Given the description of an element on the screen output the (x, y) to click on. 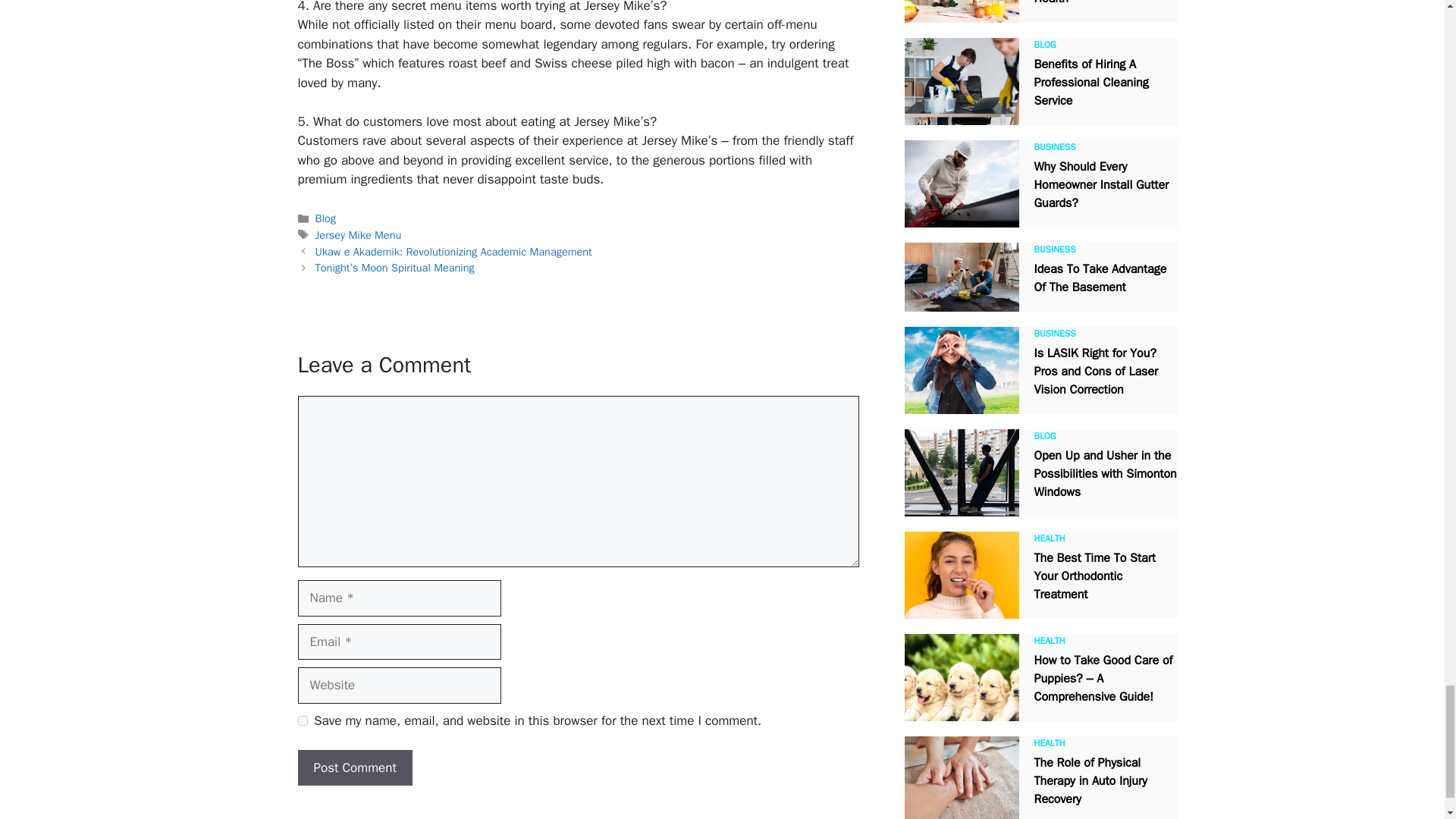
yes (302, 720)
Ukaw e Akademik: Revolutionizing Academic Management (453, 251)
Blog (325, 218)
Jersey Mike Menu (358, 234)
Post Comment (354, 768)
Post Comment (354, 768)
